Given the description of an element on the screen output the (x, y) to click on. 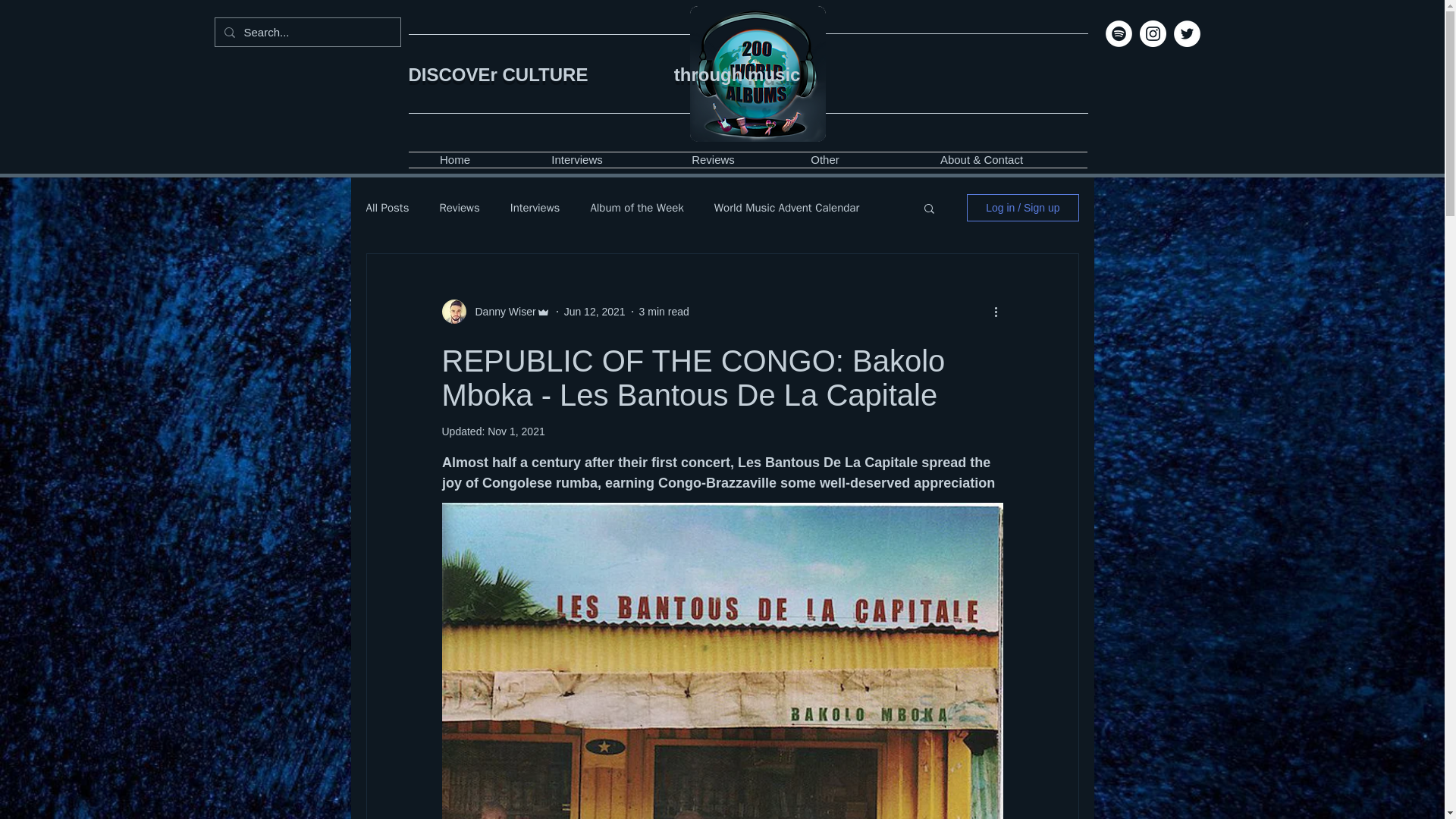
Reviews (459, 206)
Interviews (535, 206)
World Music Advent Calendar (786, 206)
All Posts (387, 206)
Jun 12, 2021 (595, 310)
3 min read (663, 310)
Album of the Week (635, 206)
Reviews (712, 159)
Nov 1, 2021 (515, 431)
Interviews (577, 159)
Home (453, 159)
Danny Wiser (500, 311)
